Given the description of an element on the screen output the (x, y) to click on. 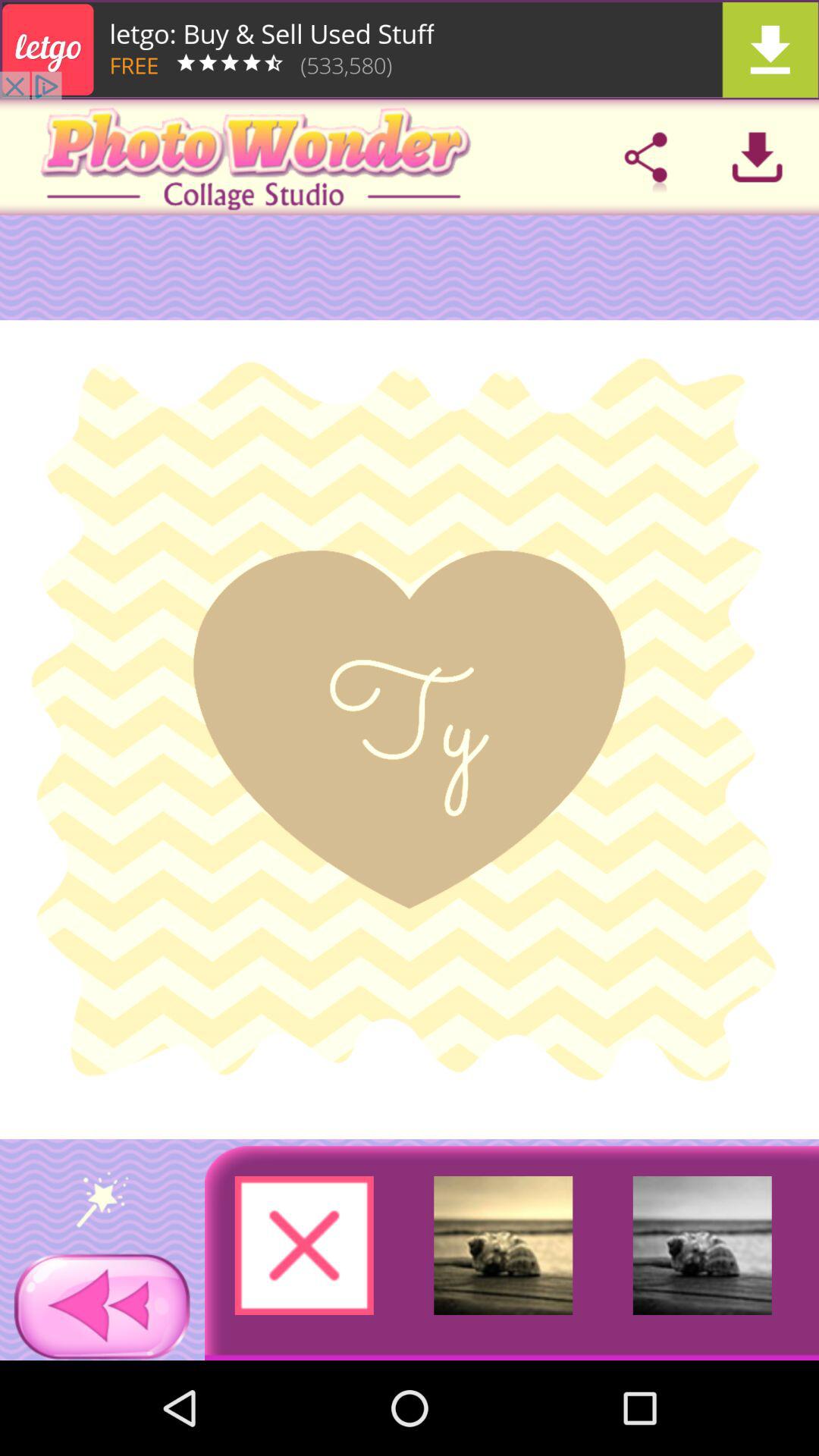
go to download (409, 49)
